Given the description of an element on the screen output the (x, y) to click on. 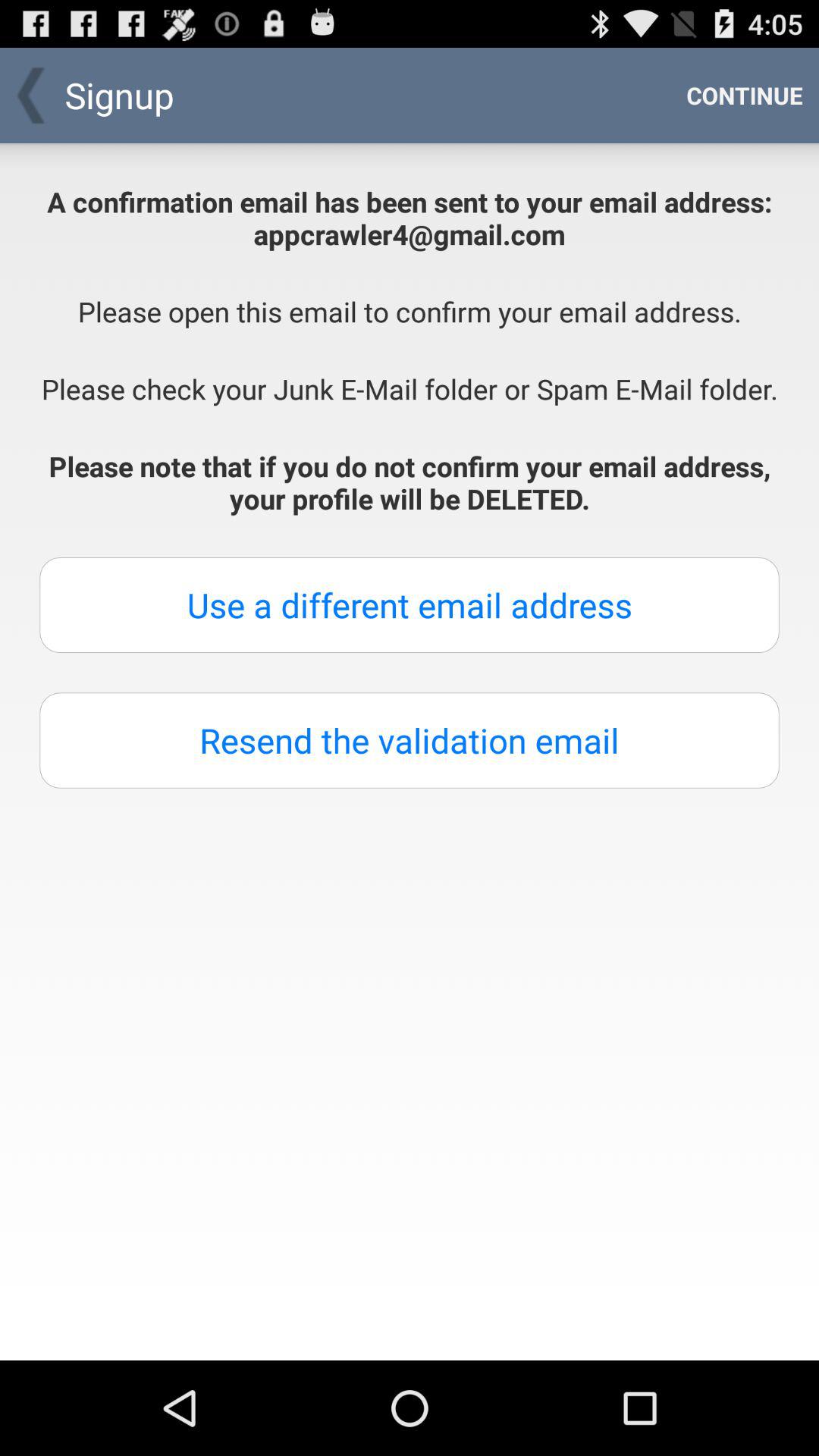
swipe until continue item (744, 95)
